Given the description of an element on the screen output the (x, y) to click on. 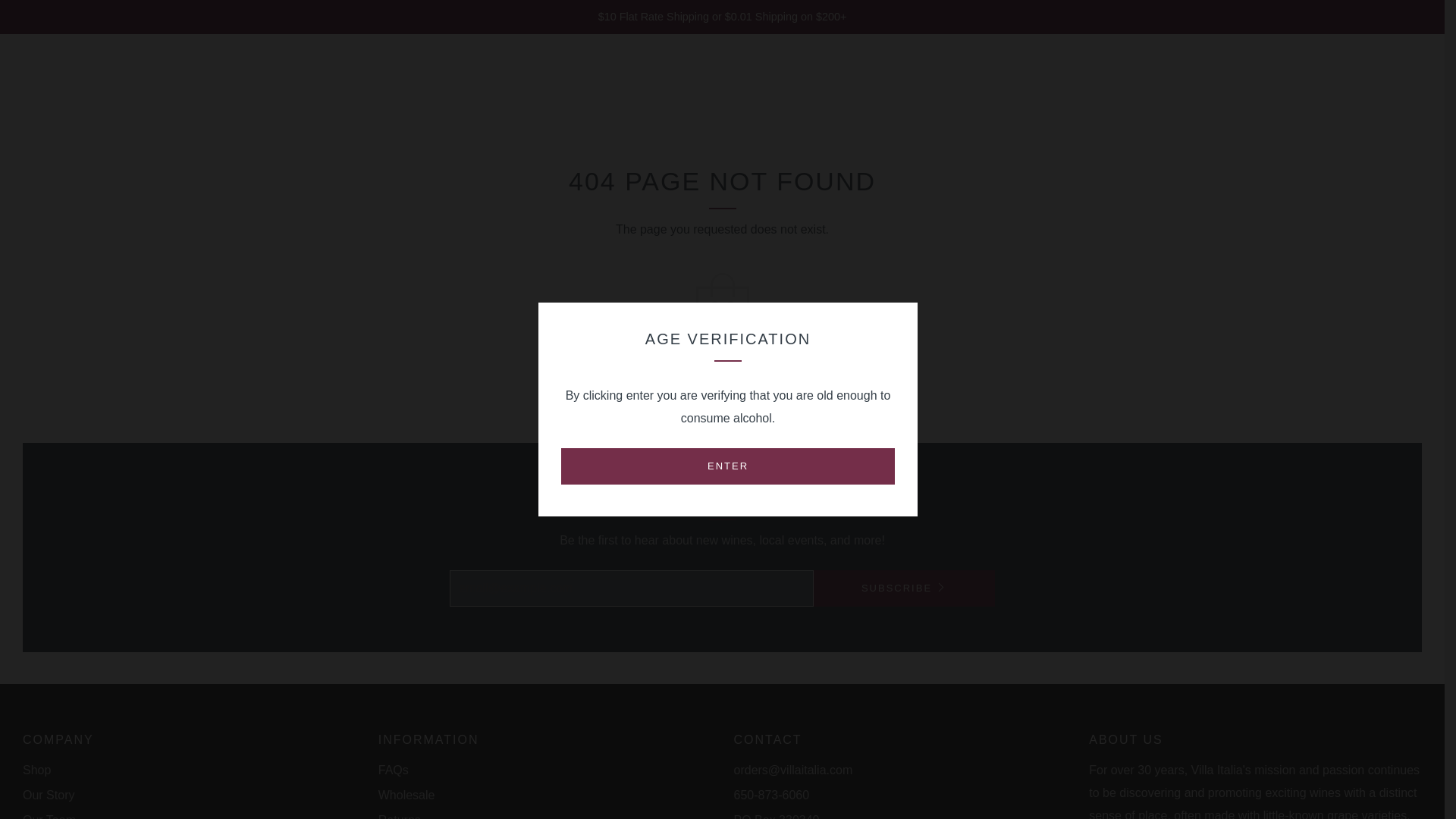
Our Story (48, 794)
SUBSCRIBE (903, 588)
SEARCH (1414, 85)
ABOUT (228, 86)
ENTER (727, 465)
LOG IN (1273, 86)
Shop (36, 769)
SHOP WINE (66, 86)
Our Team (49, 816)
CONTINUE SHOPPING (721, 380)
WINERIES (154, 86)
